Given the description of an element on the screen output the (x, y) to click on. 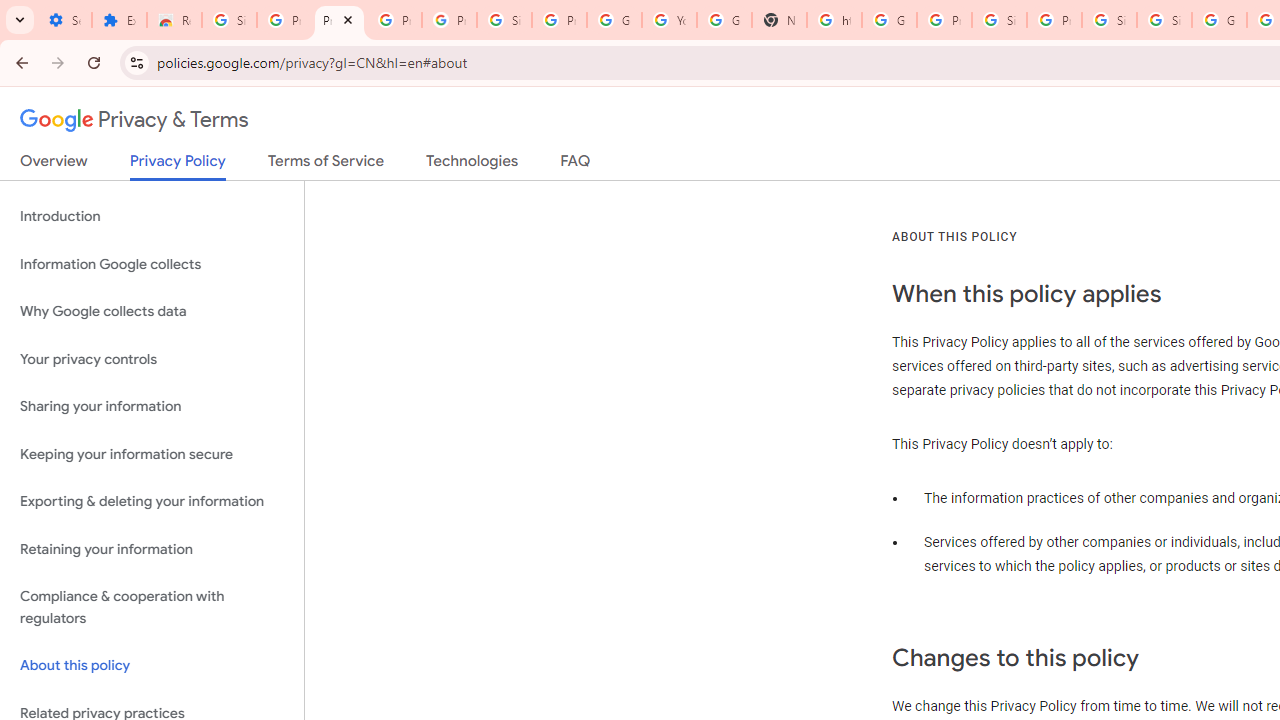
Sharing your information (152, 407)
Reviews: Helix Fruit Jump Arcade Game (174, 20)
Keeping your information secure (152, 453)
New Tab (779, 20)
Sign in - Google Accounts (504, 20)
Sign in - Google Accounts (229, 20)
Exporting & deleting your information (152, 502)
Retaining your information (152, 548)
Why Google collects data (152, 312)
